Given the description of an element on the screen output the (x, y) to click on. 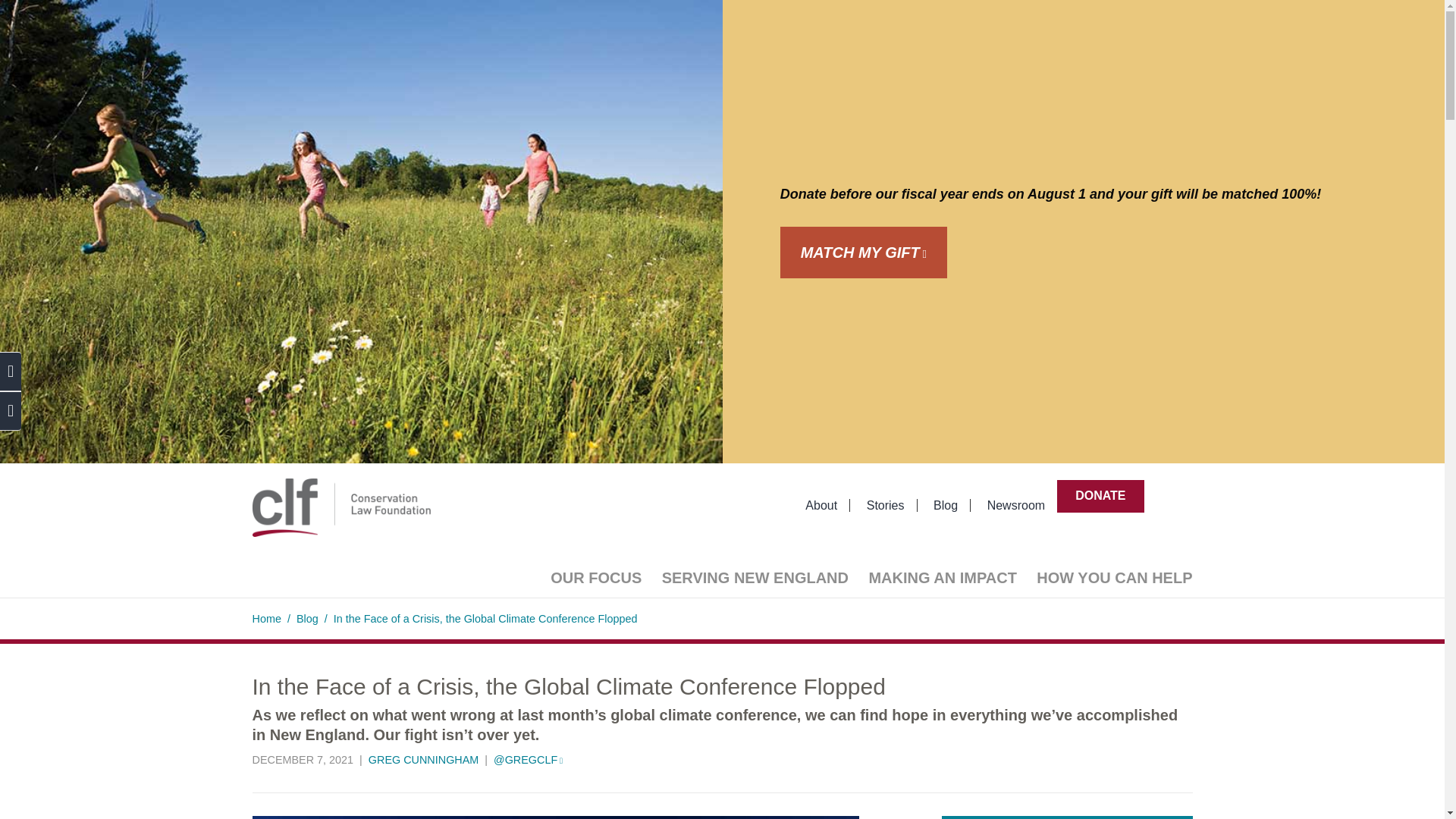
MATCH MY GIFT (863, 252)
Stories (885, 504)
OUR FOCUS (595, 578)
About (821, 504)
SERVING NEW ENGLAND (754, 578)
DONATE (1099, 495)
Newsroom (1016, 504)
Blog (946, 504)
